Given the description of an element on the screen output the (x, y) to click on. 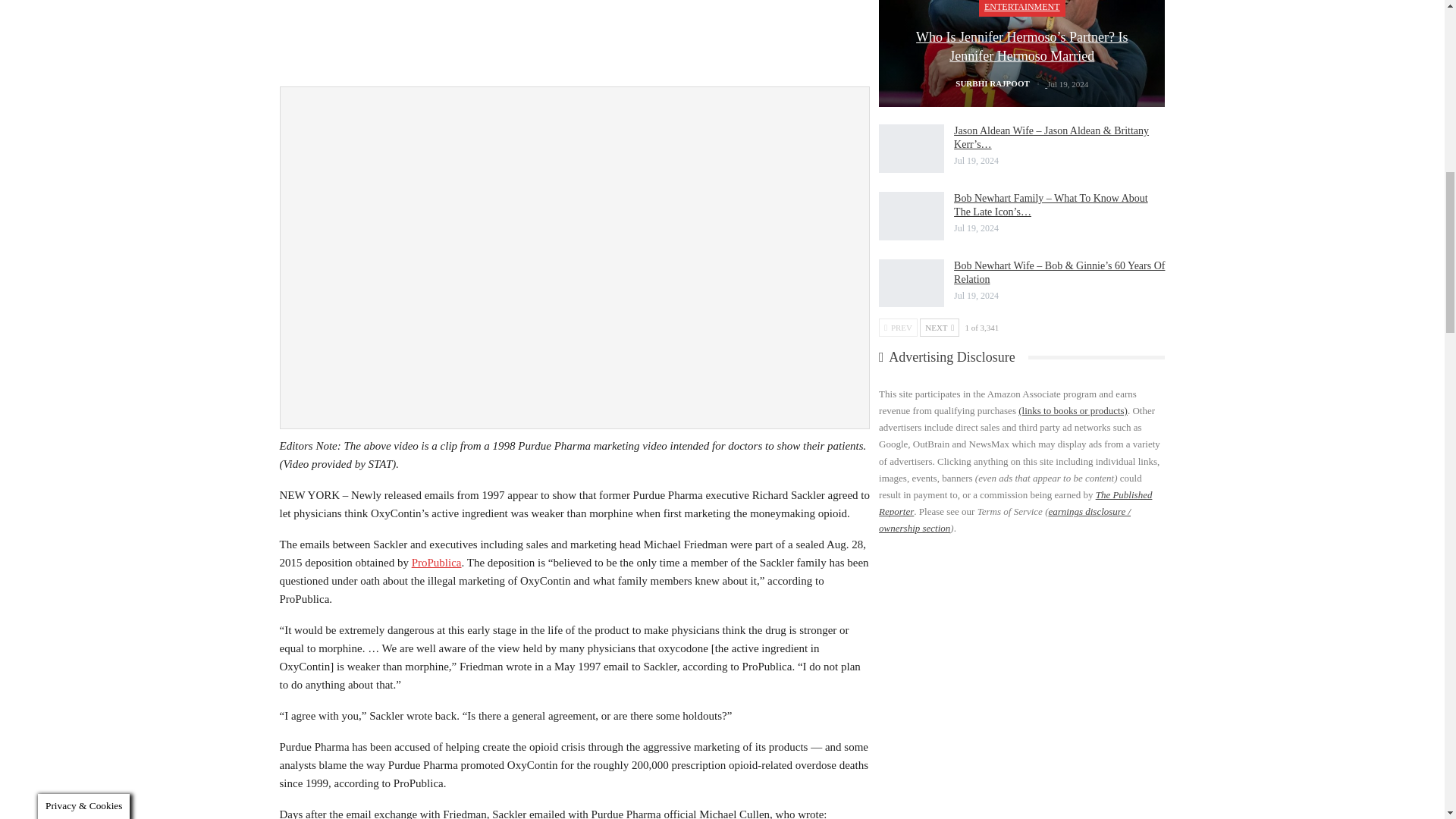
Advertisement (574, 40)
